Given the description of an element on the screen output the (x, y) to click on. 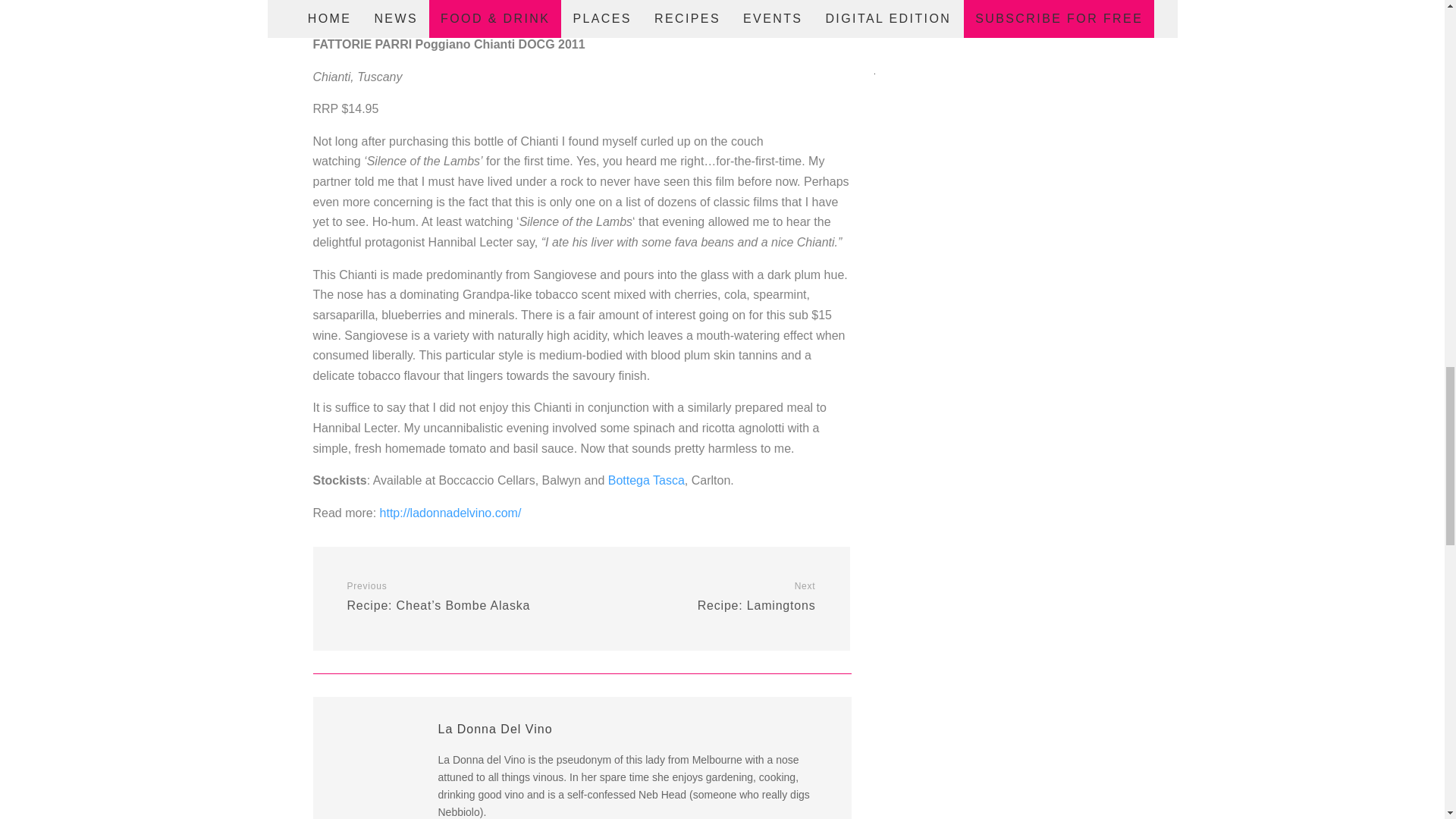
Bottega Tasca Parri Chianti (646, 480)
Bottega Tasca (442, 11)
Port Phillip Estate (674, 11)
